Given the description of an element on the screen output the (x, y) to click on. 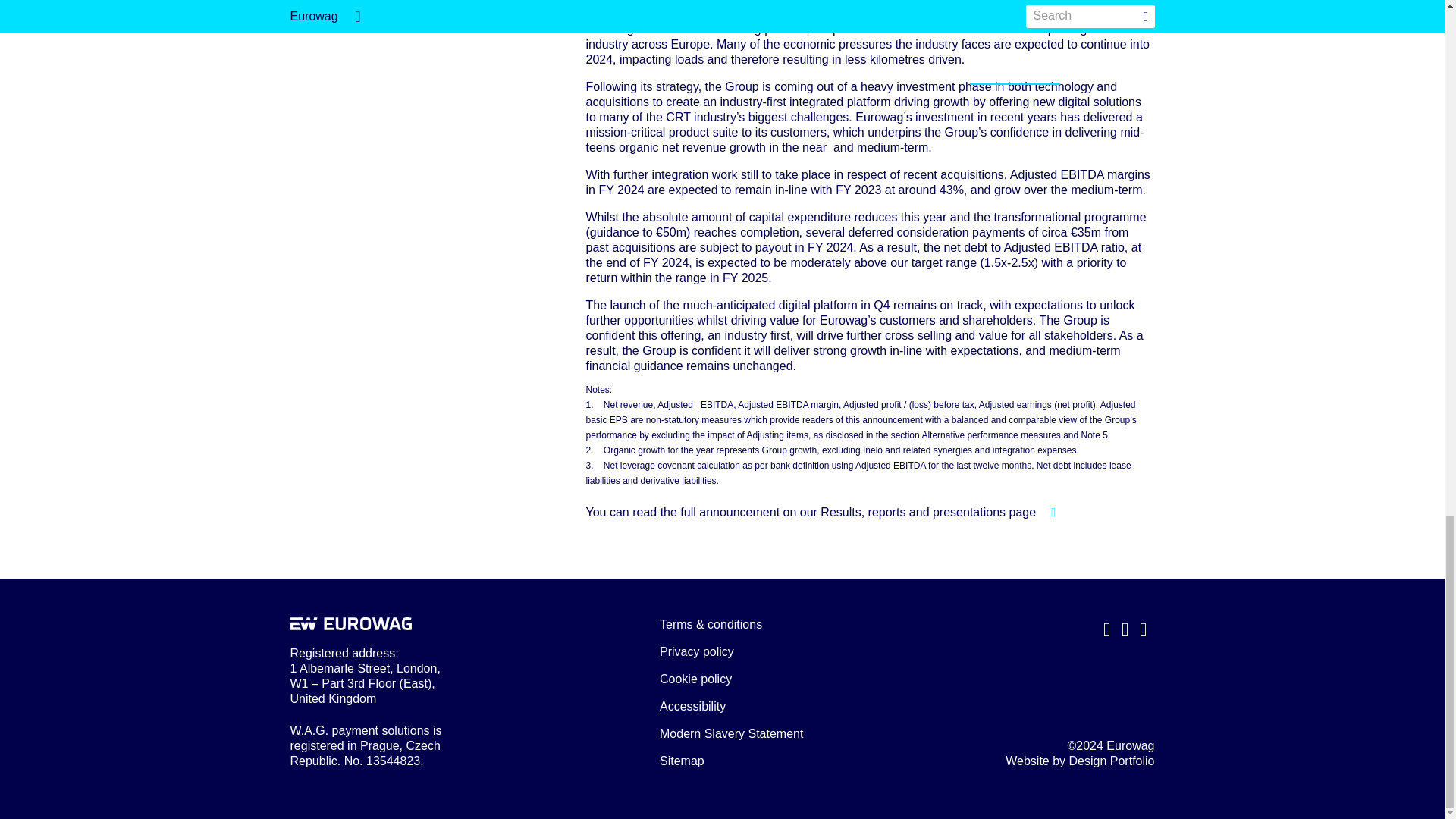
Youtube (1143, 629)
Facebook (1106, 629)
LinkedIn (1125, 629)
